Given the description of an element on the screen output the (x, y) to click on. 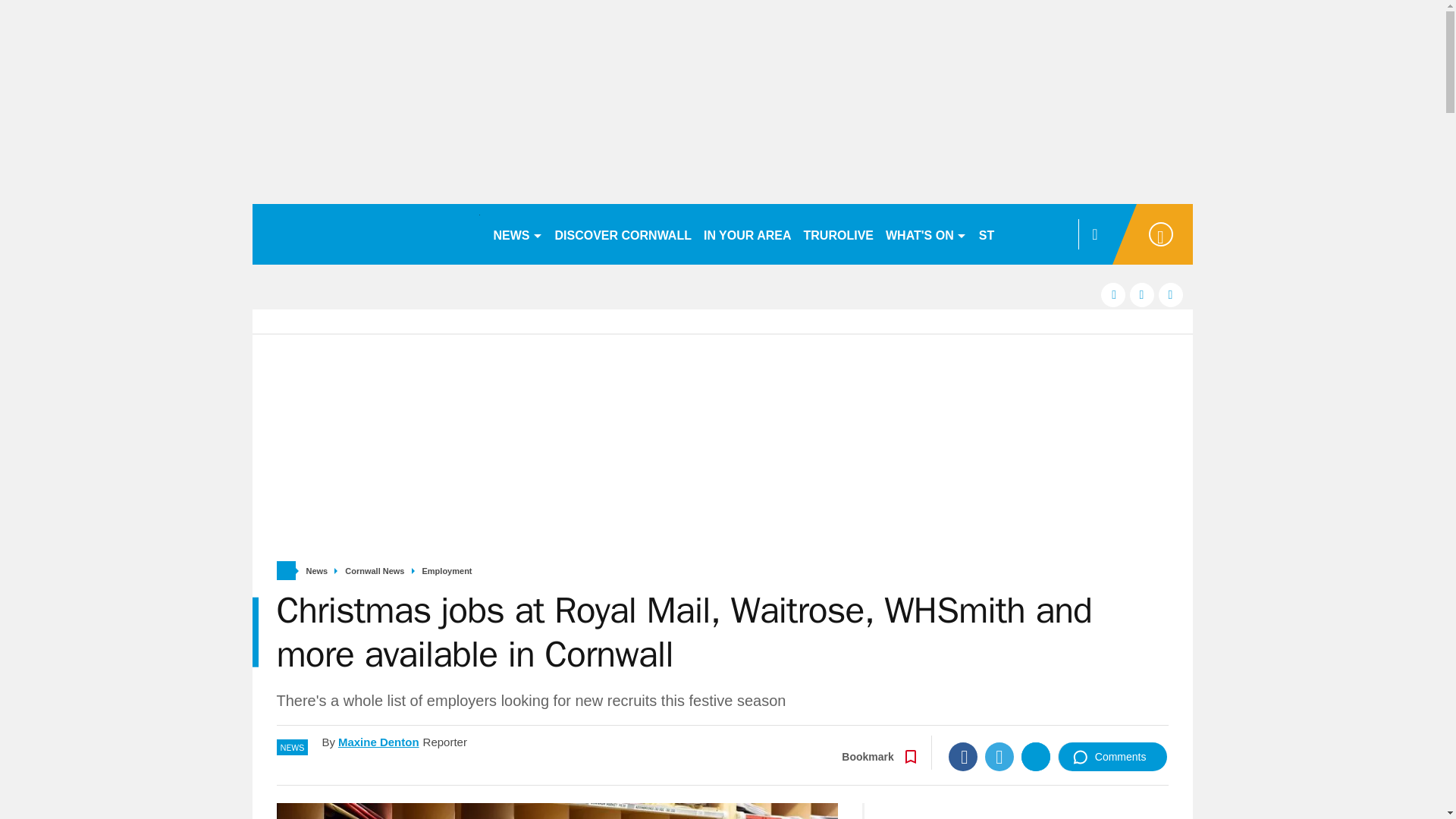
Comments (1112, 756)
TRUROLIVE (838, 233)
facebook (1112, 294)
ST AUSTELL (1015, 233)
IN YOUR AREA (747, 233)
DISCOVER CORNWALL (622, 233)
instagram (1170, 294)
cornwalllive (365, 233)
WHAT'S ON (925, 233)
Twitter (999, 756)
Facebook (962, 756)
twitter (1141, 294)
NEWS (517, 233)
